Given the description of an element on the screen output the (x, y) to click on. 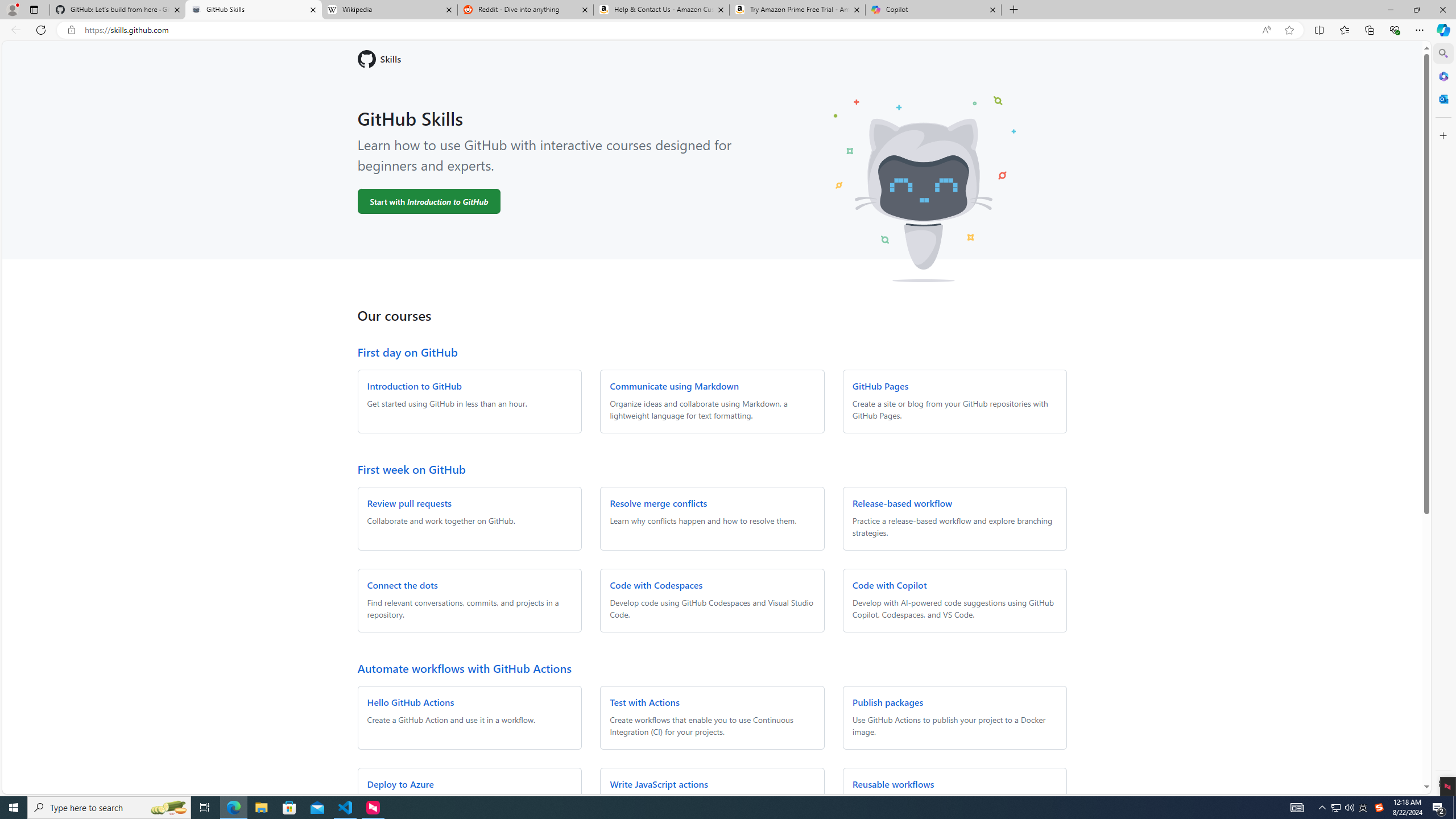
Close Outlook pane (1442, 98)
Customize (1442, 135)
Communicate using Markdown (674, 385)
GitHub Pages (879, 385)
Introduction to GitHub (413, 385)
Skills (711, 58)
Hello GitHub Actions (410, 702)
Copilot (933, 9)
Write JavaScript actions (658, 784)
